Given the description of an element on the screen output the (x, y) to click on. 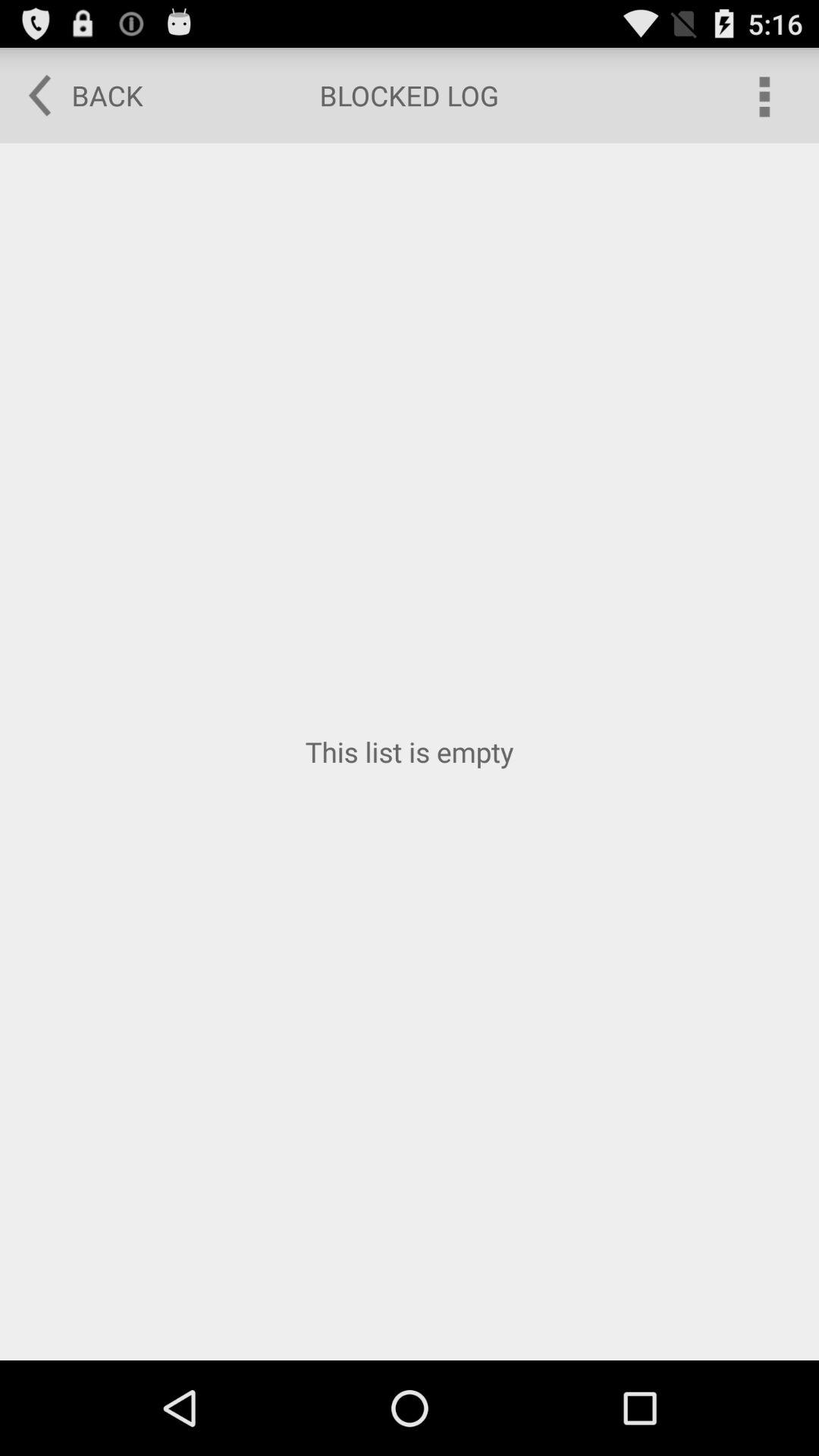
click the item to the left of blocked log item (75, 95)
